Given the description of an element on the screen output the (x, y) to click on. 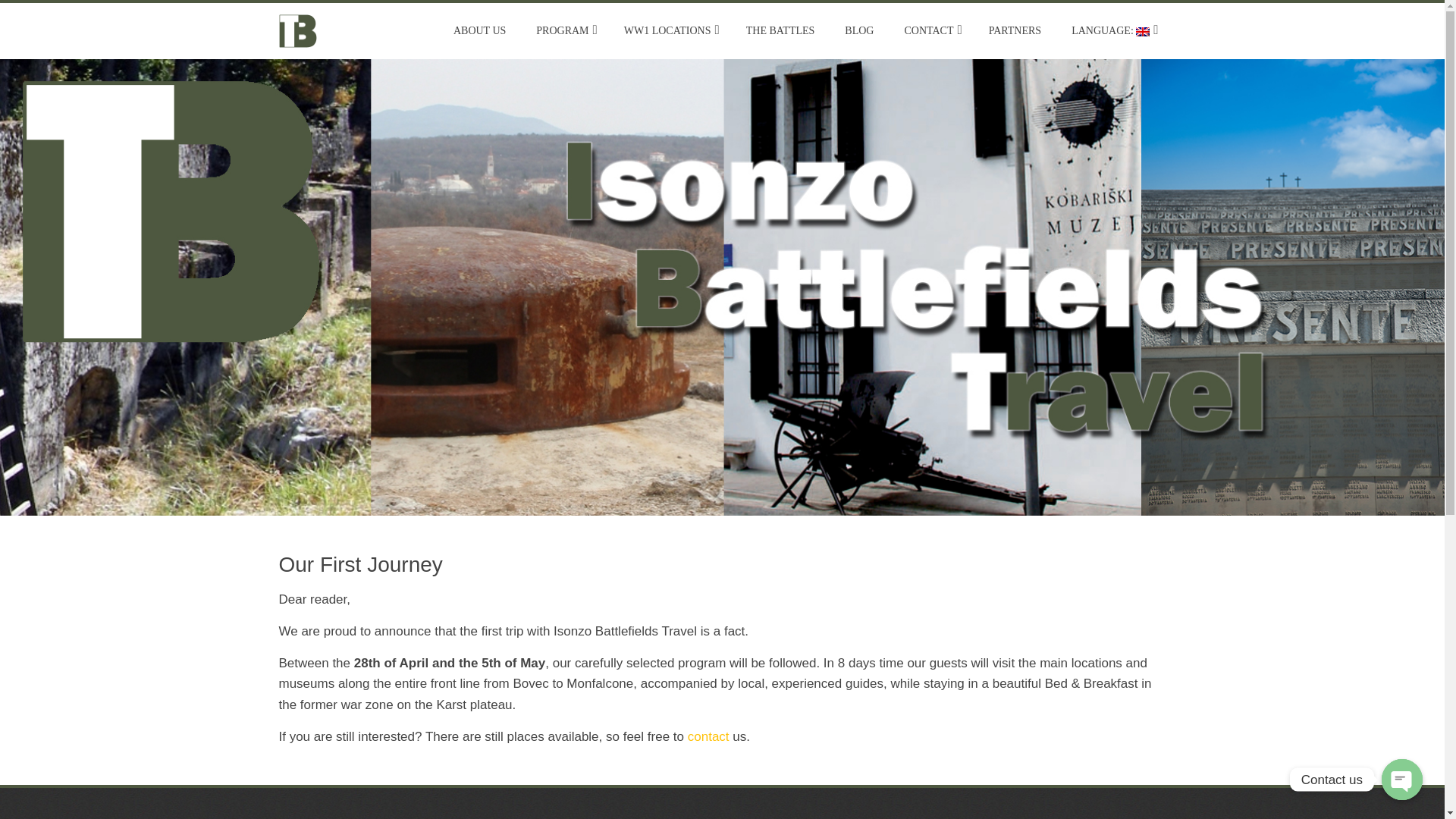
CONTACT (930, 31)
THE BATTLES (781, 31)
LANGUAGE:  (1112, 31)
BLOG (858, 31)
WW1 LOCATIONS (669, 31)
PROGRAM (564, 31)
ABOUT US (479, 31)
PARTNERS (1014, 31)
English (1112, 31)
contact (708, 736)
